Given the description of an element on the screen output the (x, y) to click on. 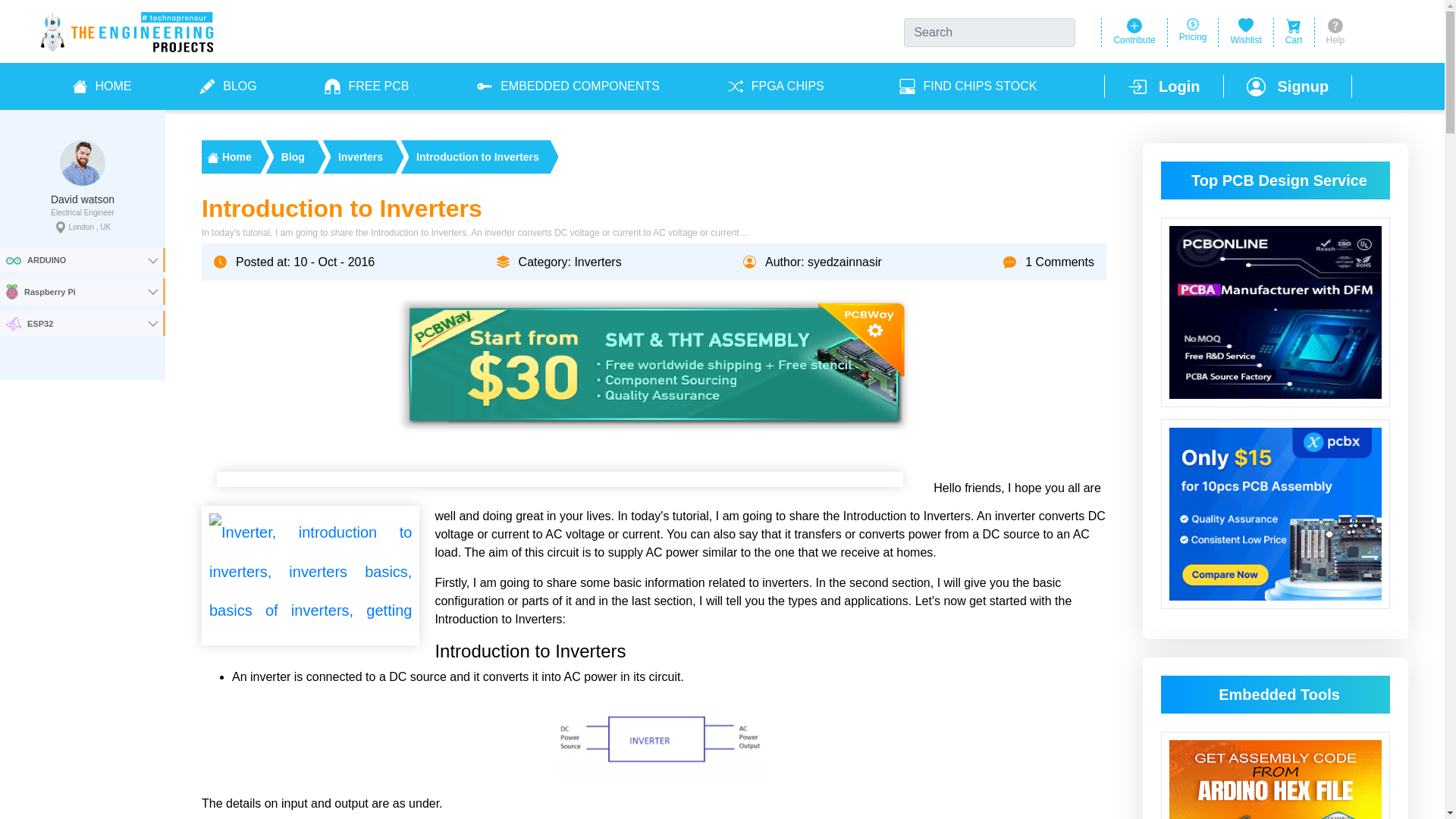
Inverters (359, 156)
Login (1163, 86)
HOME (100, 86)
Pricing (1193, 32)
Introduction to Inverters (477, 156)
FIND CHIPS STOCK (967, 86)
FPGA CHIPS (778, 86)
The Engineering Projects (228, 156)
BLOG (227, 86)
Signup (1288, 86)
